Given the description of an element on the screen output the (x, y) to click on. 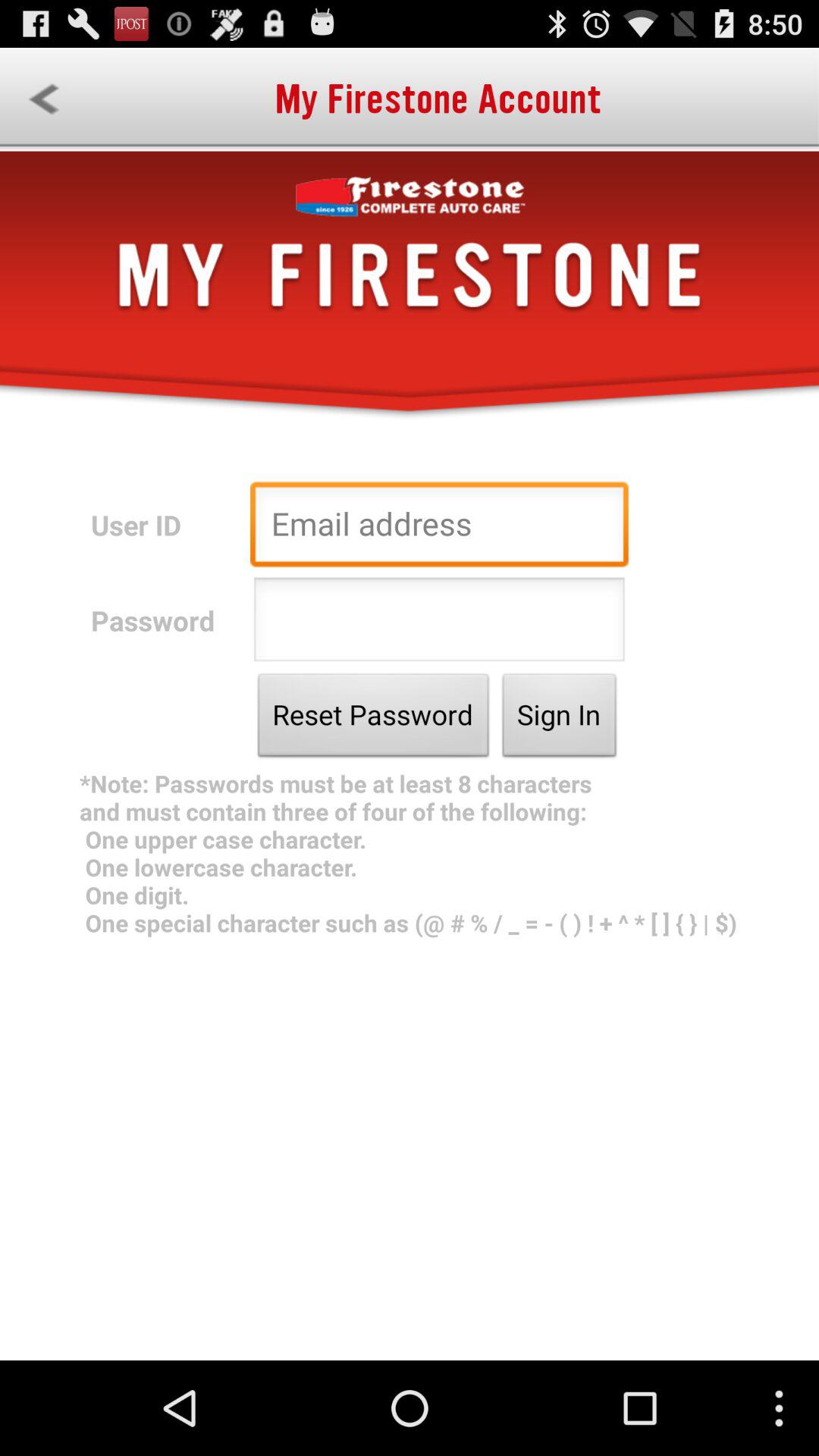
turn on the app next to my firestone account (43, 99)
